Given the description of an element on the screen output the (x, y) to click on. 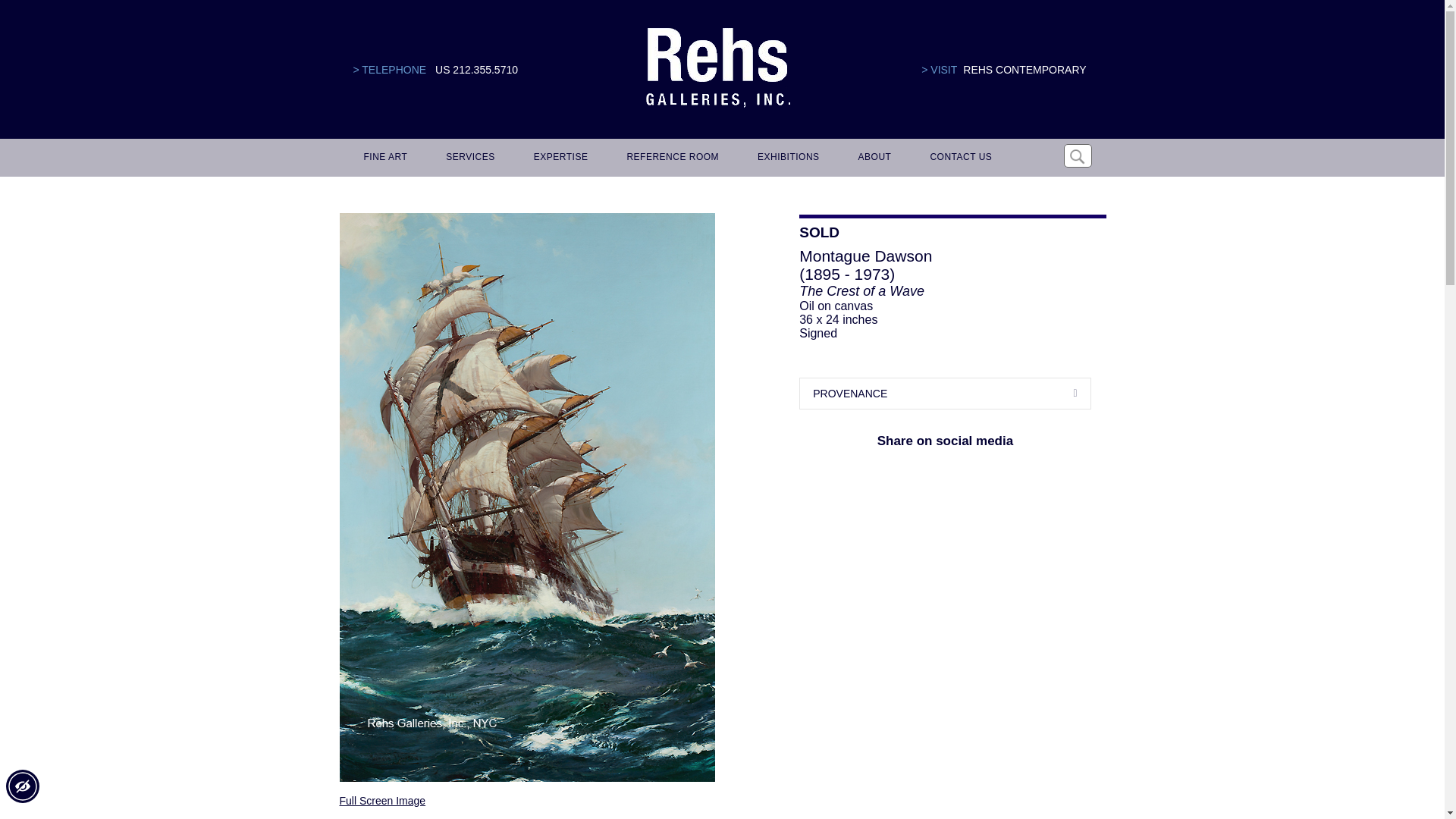
ABOUT (872, 157)
EXPERTISE (558, 157)
REHS CONTEMPORARY (1024, 69)
Logo (717, 67)
FINE ART (383, 157)
EXHIBITIONS (785, 157)
REFERENCE ROOM (670, 157)
CONTACT US (957, 157)
Full Screen Image (382, 800)
Accessibility Menu (22, 786)
SERVICES (467, 157)
